Given the description of an element on the screen output the (x, y) to click on. 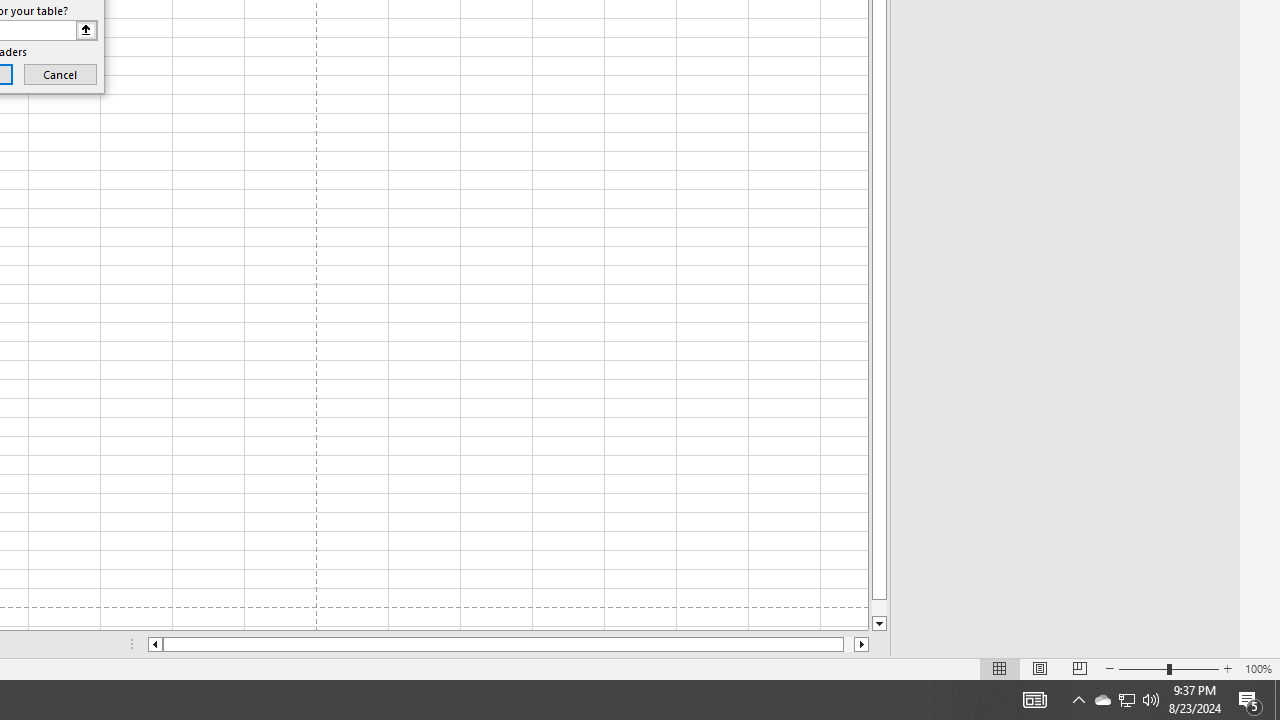
Page down (879, 607)
Page right (848, 644)
